Given the description of an element on the screen output the (x, y) to click on. 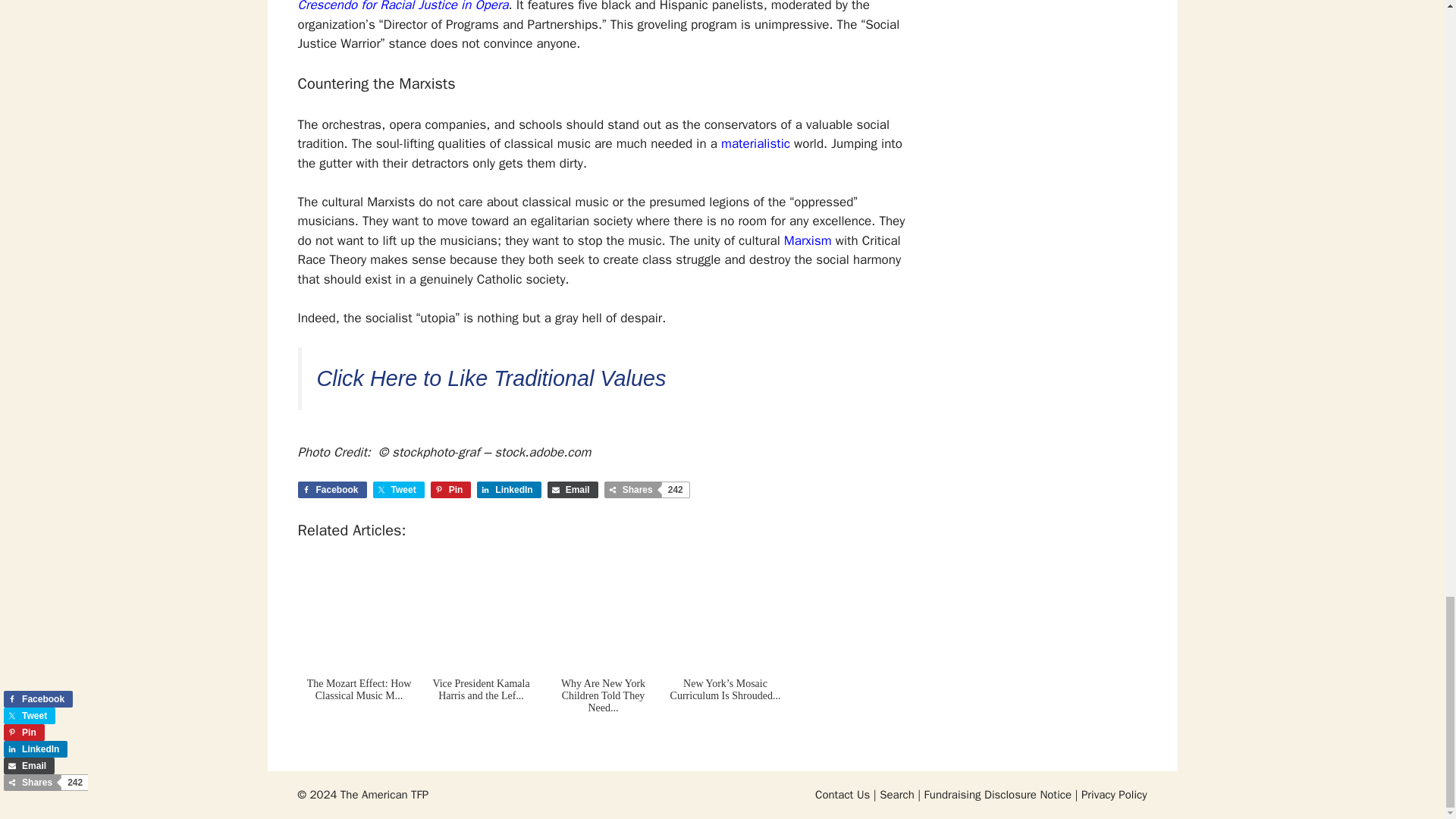
Share on LinkedIn (508, 489)
Share on Facebook (331, 489)
Share on Pinterest (450, 489)
Email (572, 489)
Share on Twitter (398, 489)
Share via Email (572, 489)
